Given the description of an element on the screen output the (x, y) to click on. 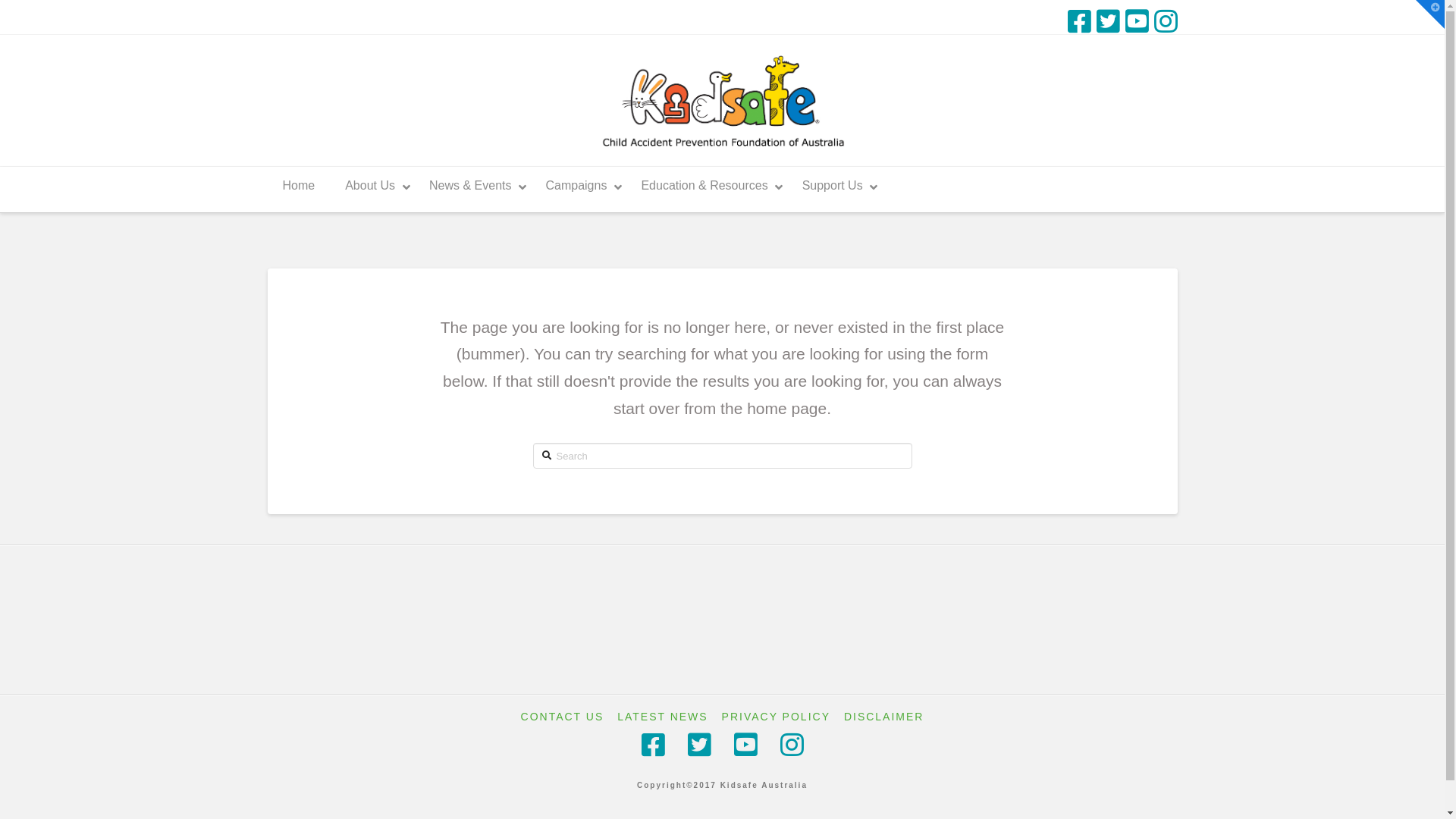
Support Us Element type: text (834, 185)
Home Element type: text (297, 185)
LATEST NEWS Element type: text (662, 716)
Twitter Element type: hover (698, 744)
Toggle the Widgetbar Element type: text (1429, 14)
YouTube Element type: hover (1136, 20)
Facebook Element type: hover (1079, 20)
Education & Resources Element type: text (705, 185)
PRIVACY POLICY Element type: text (775, 716)
Instagram Element type: hover (1165, 20)
Instagram Element type: hover (791, 744)
Campaigns Element type: text (577, 185)
Facebook Element type: hover (653, 744)
About Us Element type: text (371, 185)
Twitter Element type: hover (1108, 20)
CONTACT US Element type: text (562, 716)
News & Events Element type: text (472, 185)
YouTube Element type: hover (745, 744)
DISCLAIMER Element type: text (884, 716)
